Given the description of an element on the screen output the (x, y) to click on. 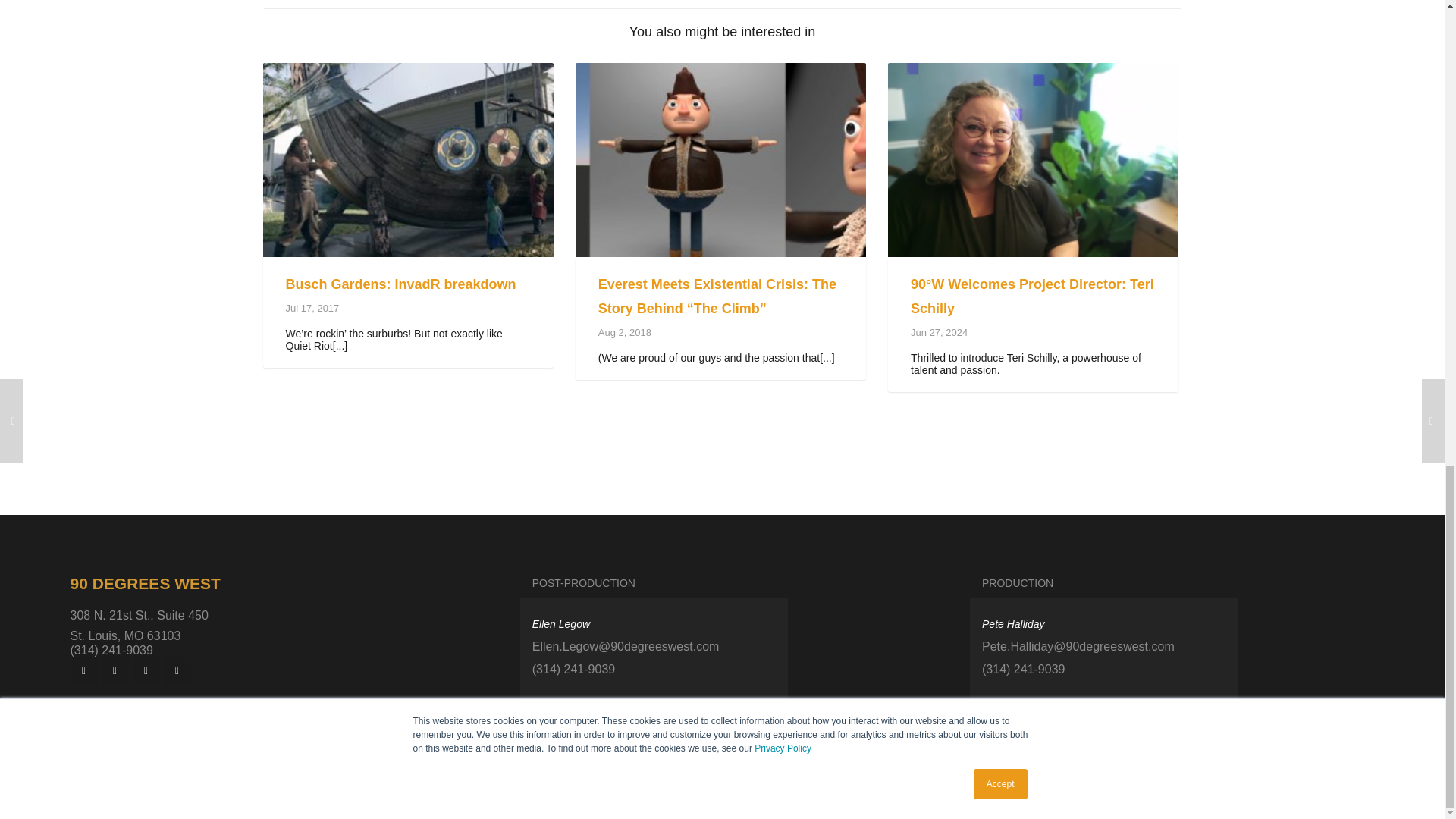
Busch Gardens: InvadR breakdown (400, 283)
Privacy Policy (722, 802)
